Given the description of an element on the screen output the (x, y) to click on. 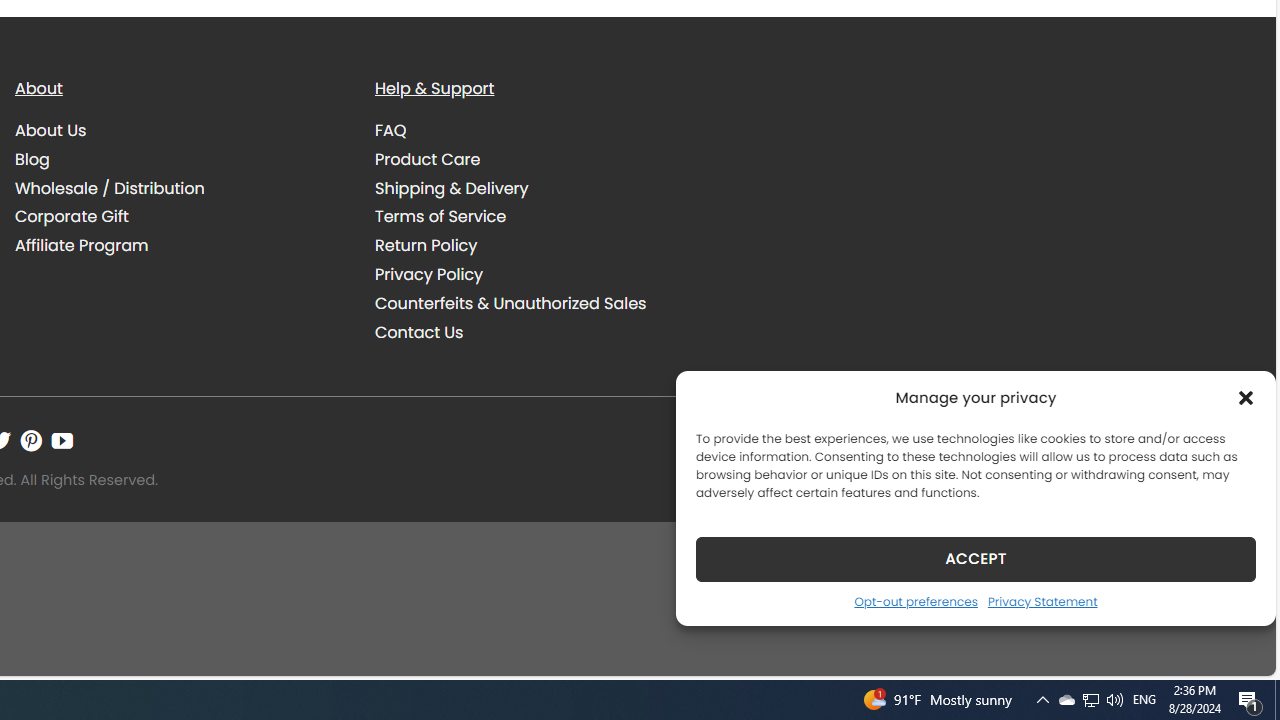
Return Policy (540, 246)
Contact Us (419, 331)
Wholesale / Distribution (180, 188)
Product Care (540, 159)
About Us (51, 130)
Corporate Gift (180, 216)
Counterfeits & Unauthorized Sales (510, 302)
Follow on Pinterest (31, 440)
Contact Us (540, 332)
Go to top (1234, 647)
Blog (32, 158)
Affiliate Program (81, 245)
Privacy Policy (540, 274)
Shipping & Delivery (540, 188)
About Us (180, 131)
